Given the description of an element on the screen output the (x, y) to click on. 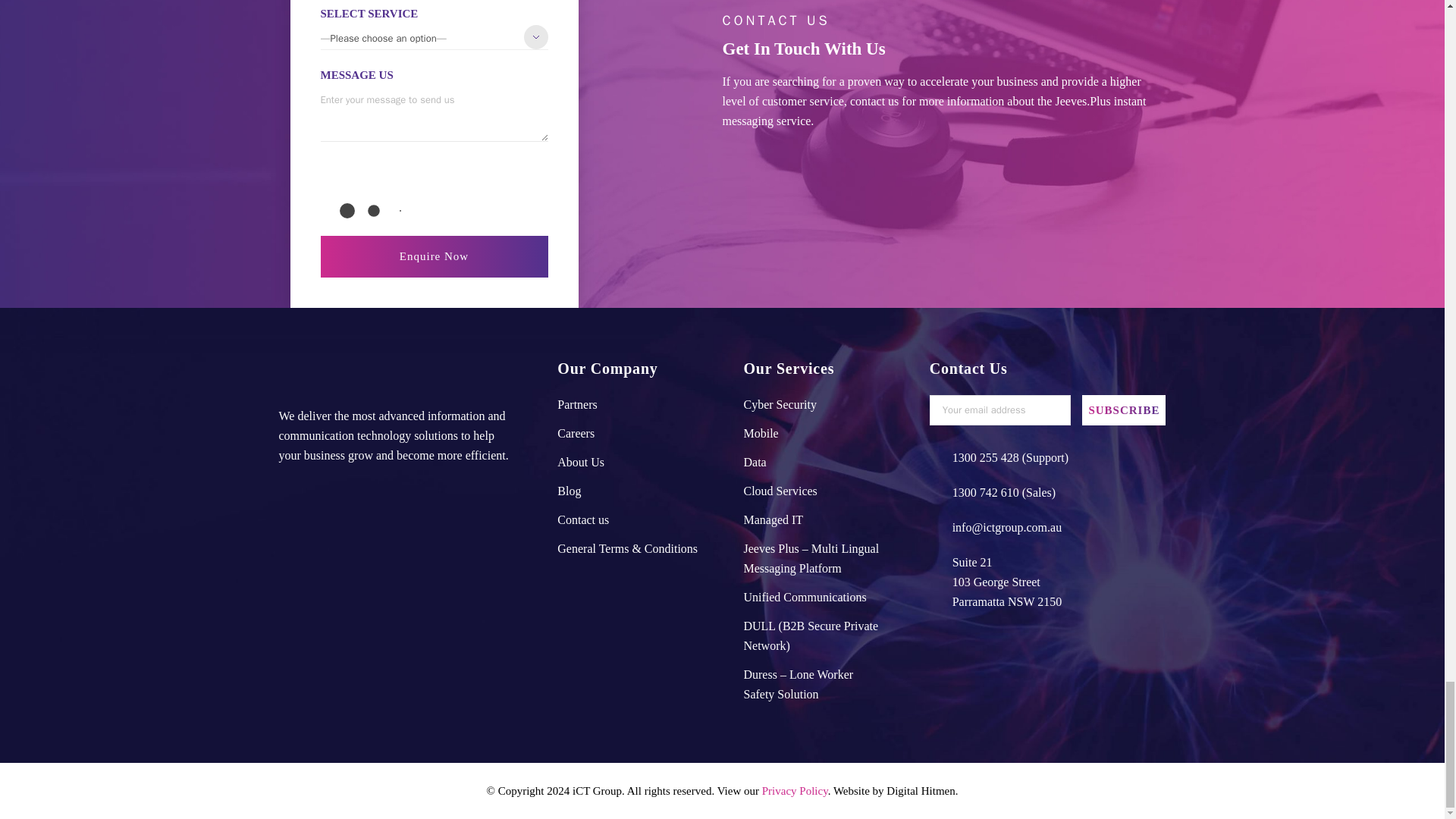
Subscribe (1123, 409)
Enquire Now (433, 256)
